Given the description of an element on the screen output the (x, y) to click on. 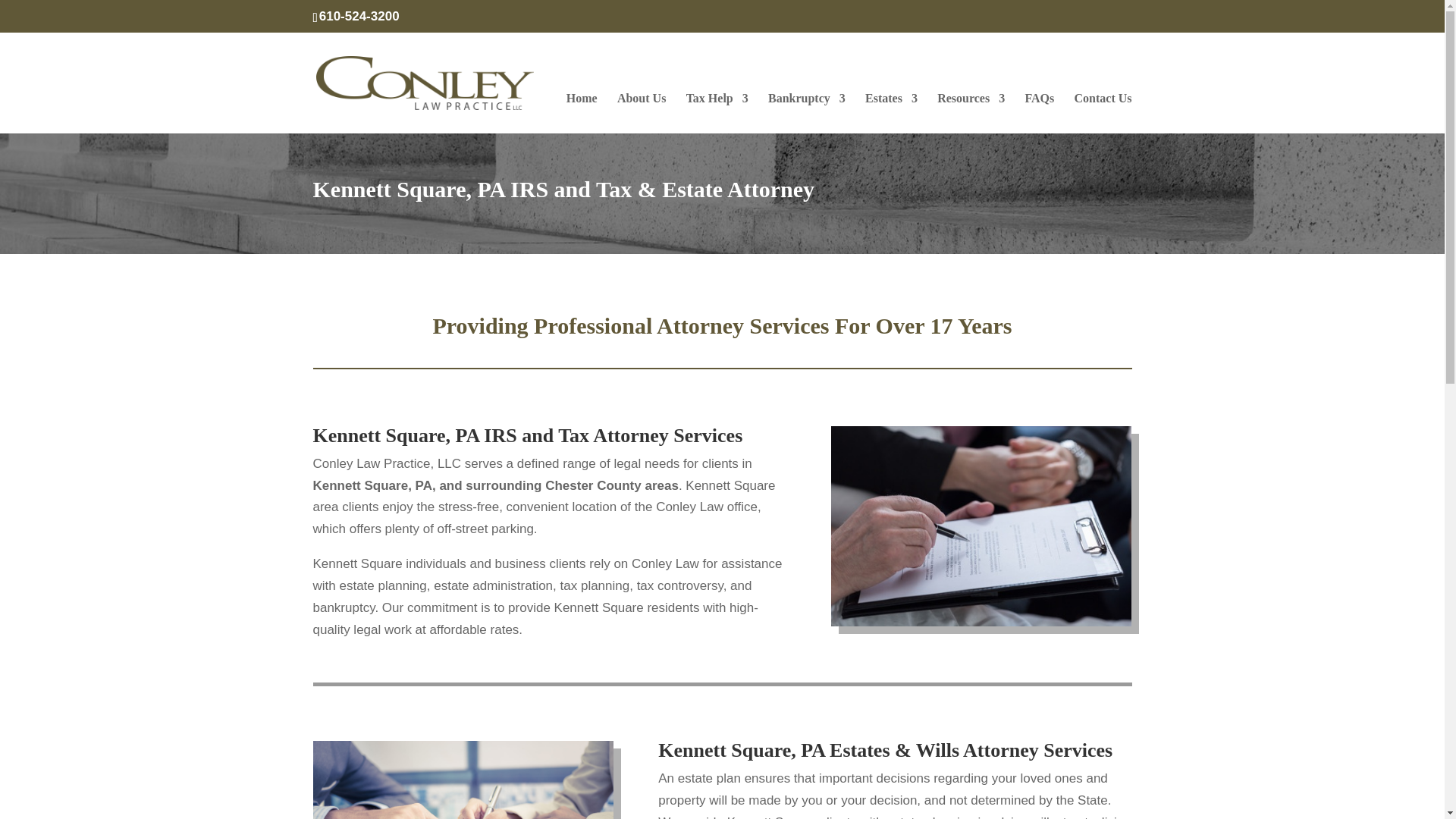
About Us (641, 112)
Resources (970, 112)
Contact Us (1102, 112)
Estates (890, 112)
Bankruptcy (806, 112)
Tax Help (716, 112)
